Given the description of an element on the screen output the (x, y) to click on. 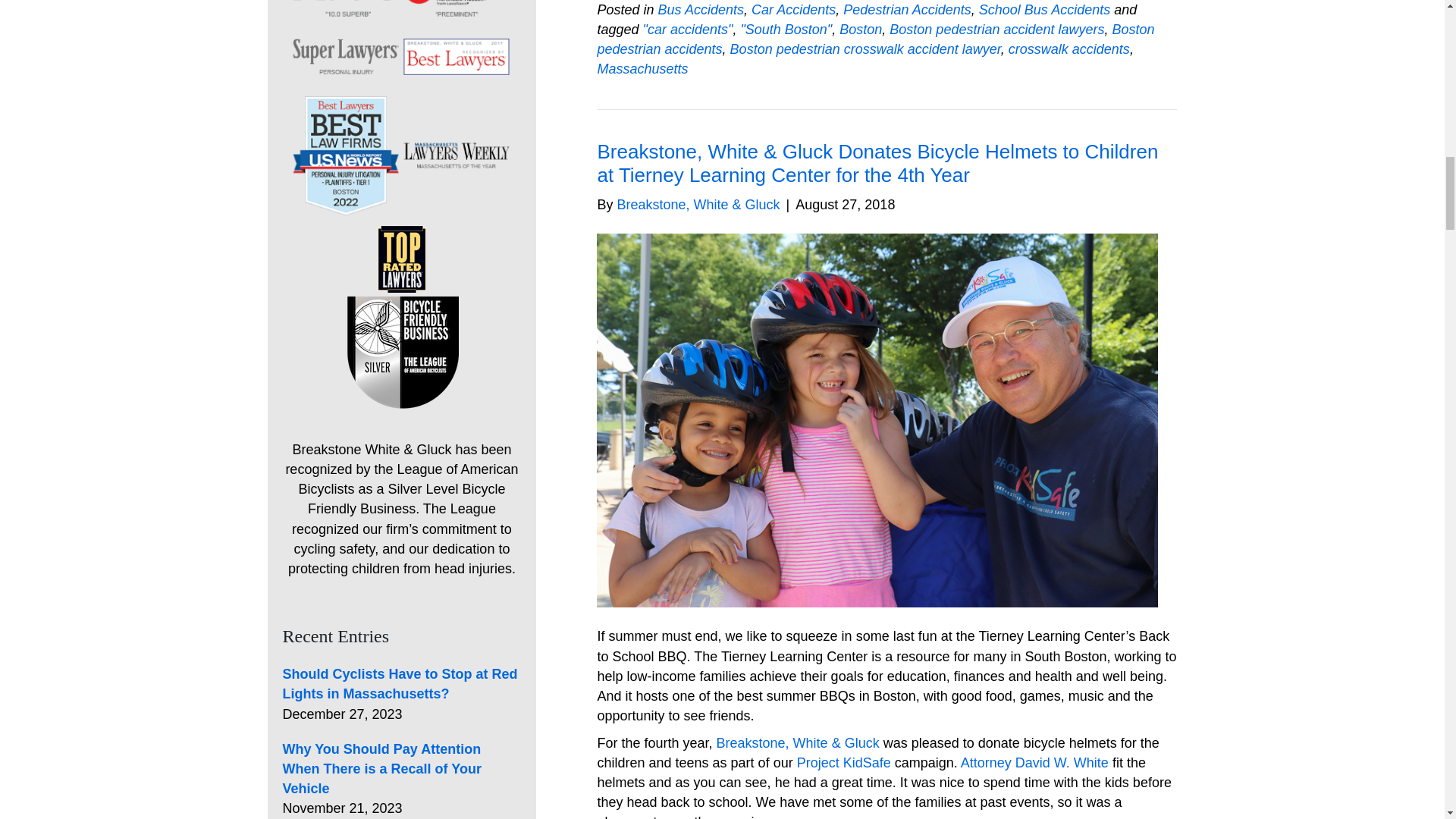
Should Cyclists Have to Stop at Red Lights in Massachusetts? (399, 683)
